Given the description of an element on the screen output the (x, y) to click on. 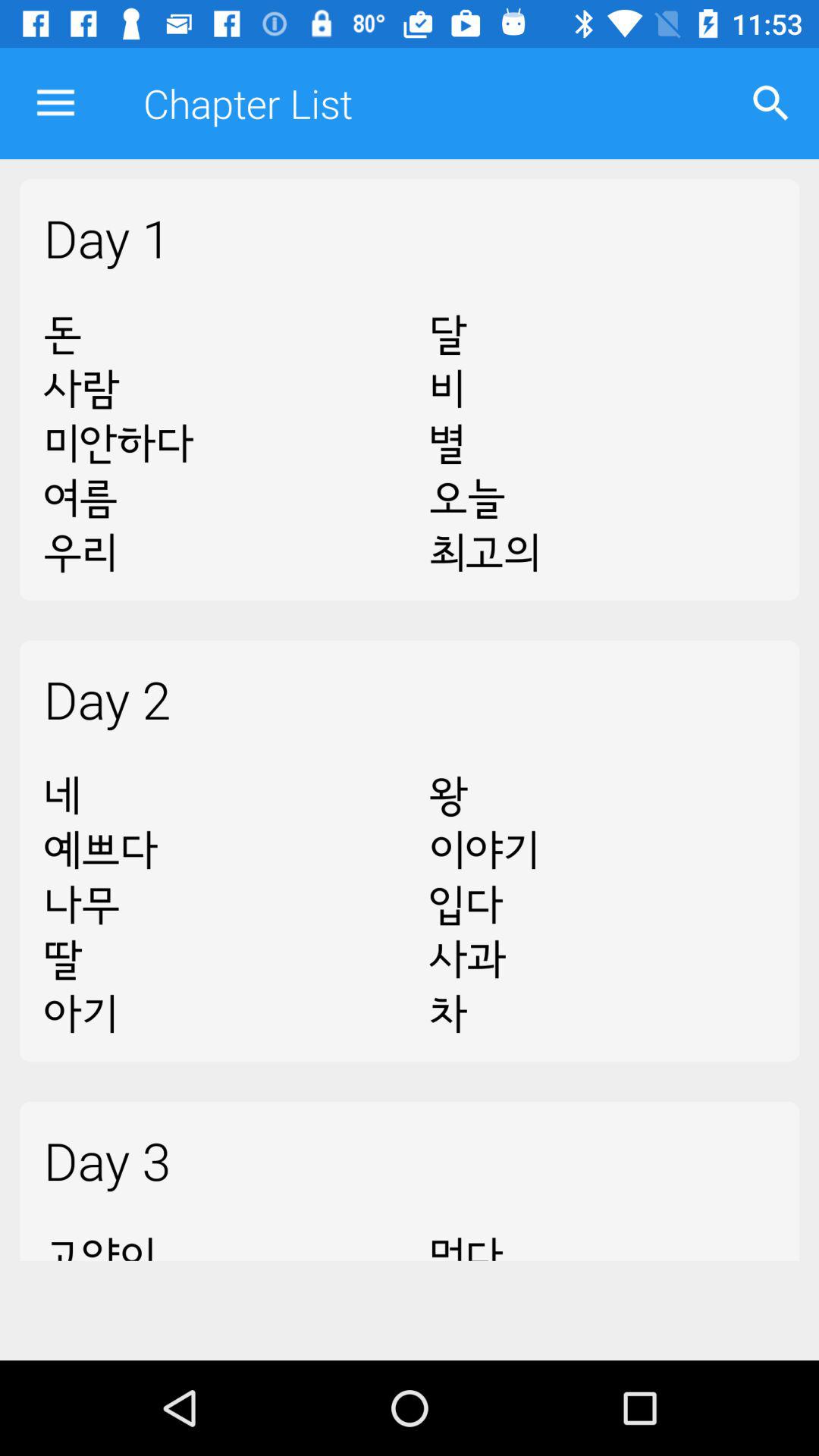
open icon on the right (602, 905)
